Given the description of an element on the screen output the (x, y) to click on. 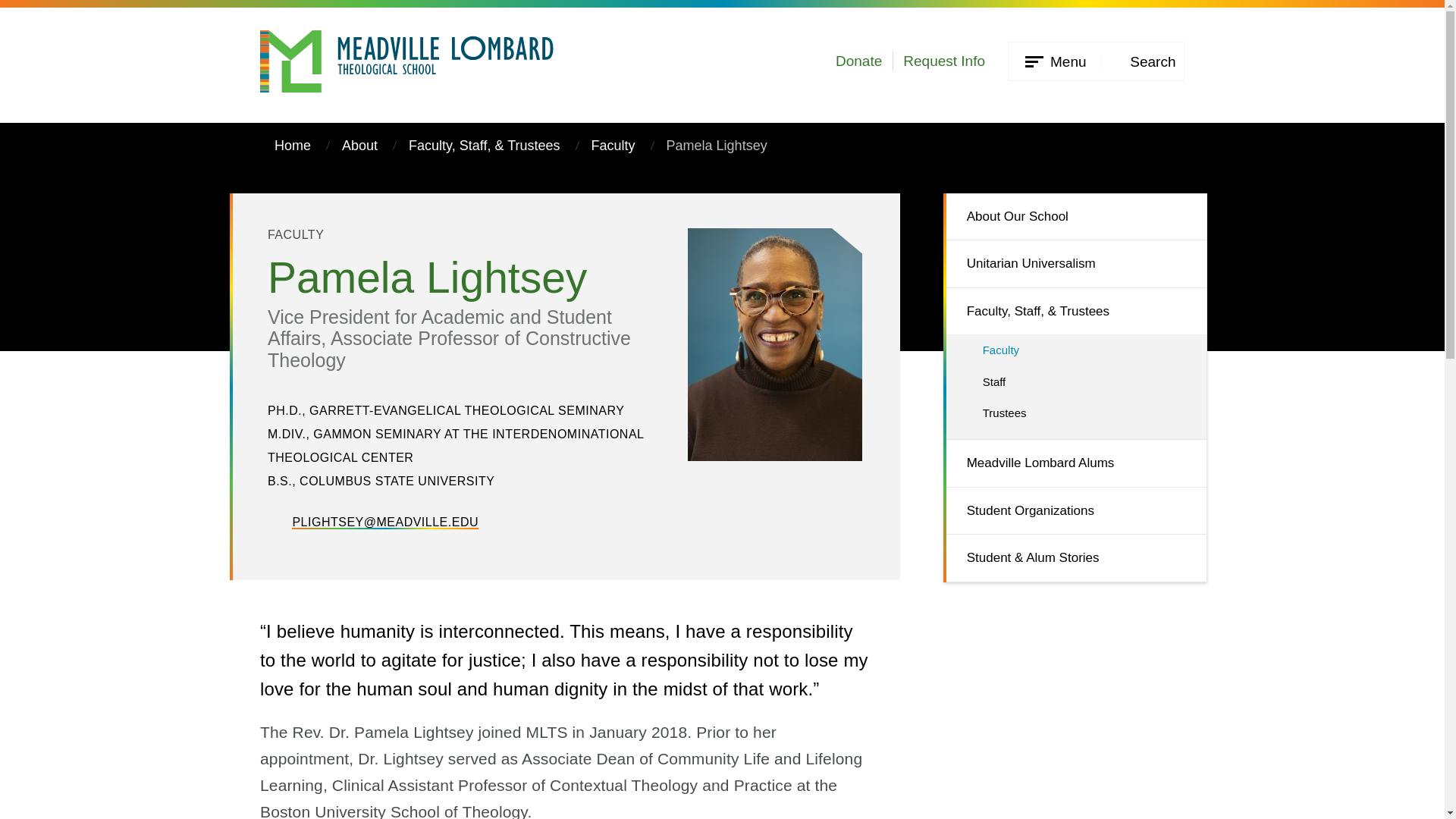
Home (285, 146)
Donate (858, 61)
Menu (1054, 61)
Search (1142, 61)
Request Info (943, 61)
Meadville Lombard Alums (1075, 462)
Trustees (1075, 417)
Faculty (612, 146)
Staff (1075, 381)
In This Section (972, 225)
About Our School (1075, 216)
In This Section (29, 154)
About (359, 146)
Student Organizations (1075, 510)
Unitarian Universalism (1075, 263)
